Given the description of an element on the screen output the (x, y) to click on. 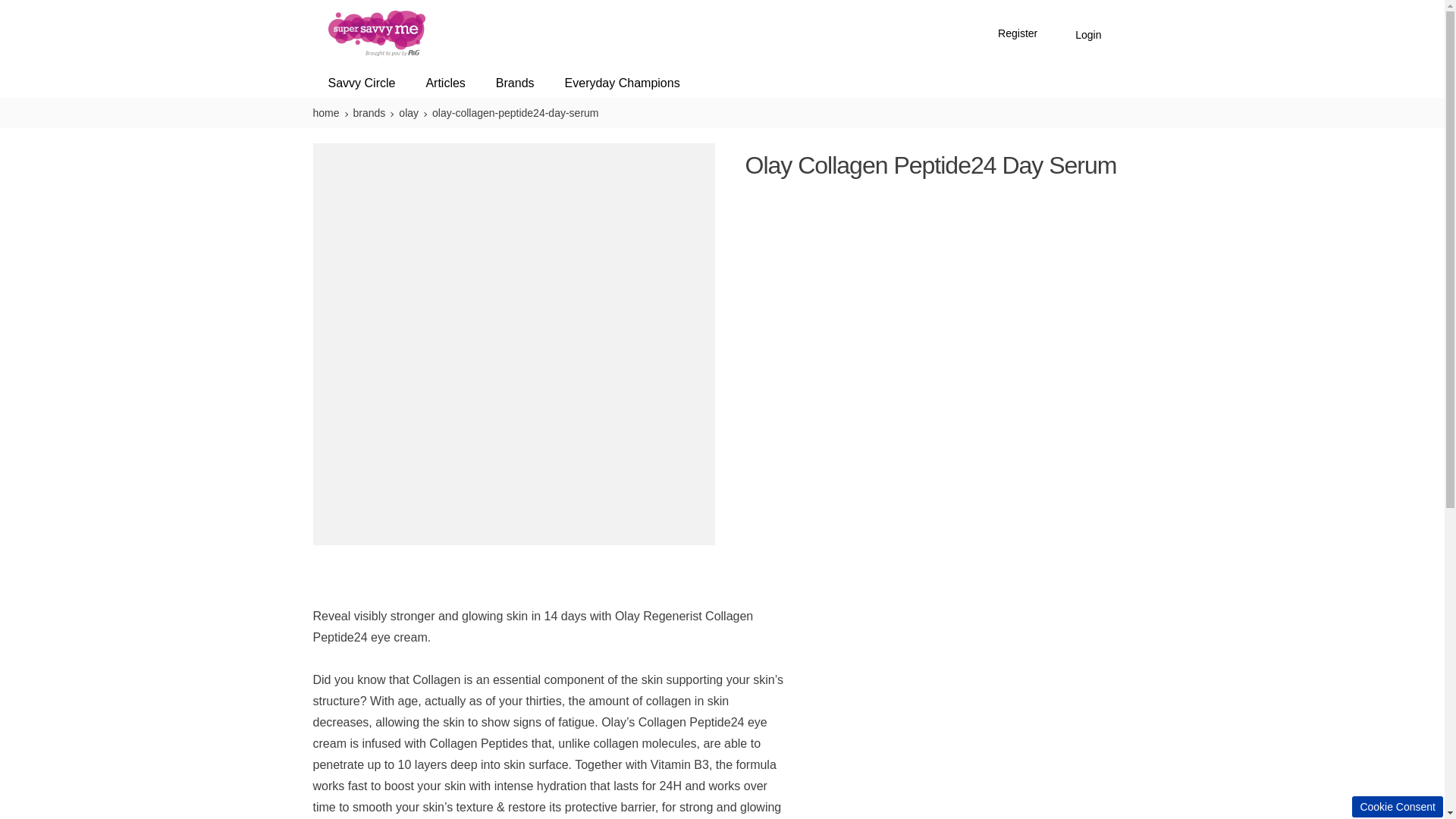
Articles (445, 83)
Register (1017, 34)
Savvy Circle (361, 83)
Login (1087, 34)
